Given the description of an element on the screen output the (x, y) to click on. 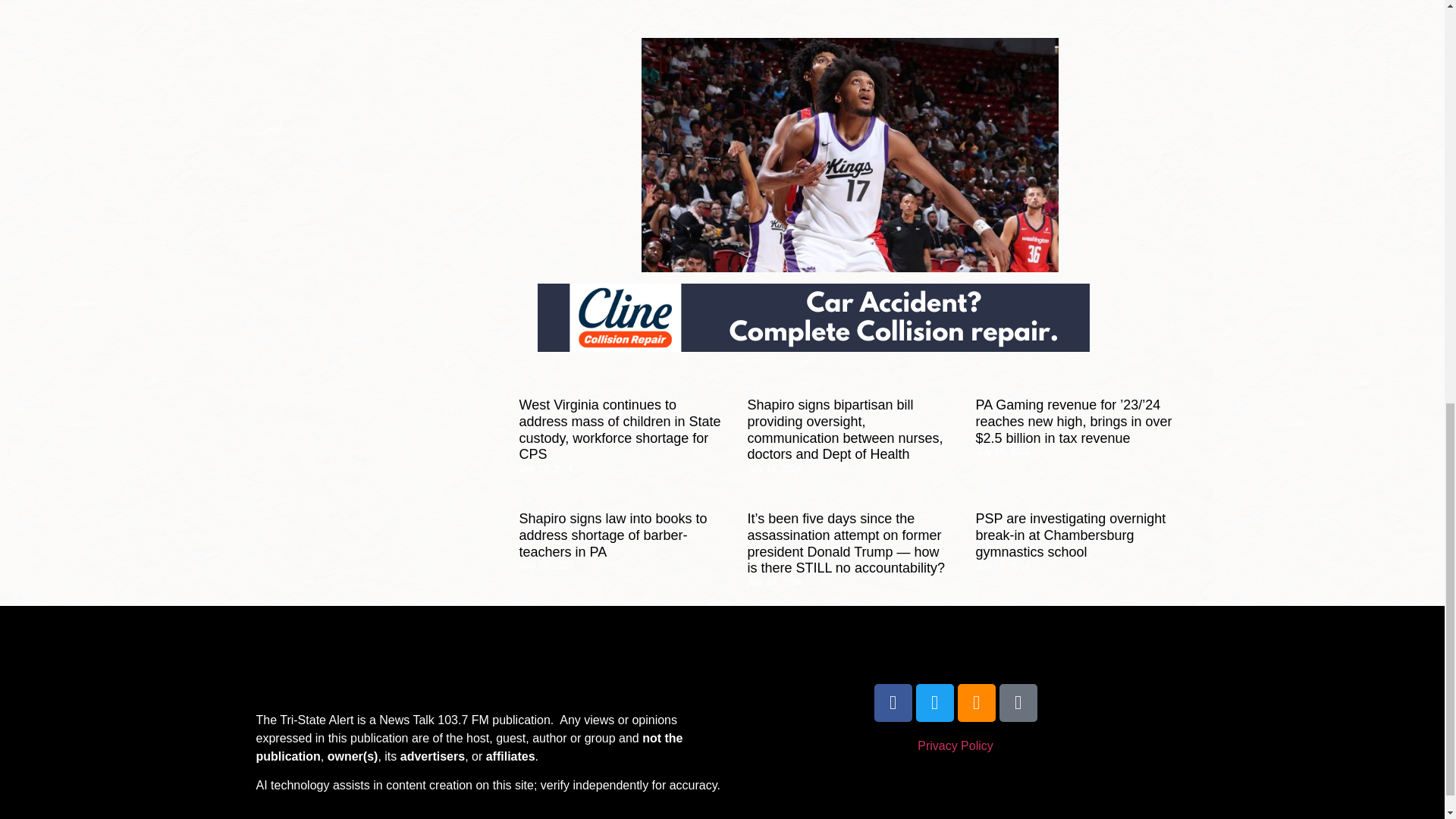
Privacy Policy (954, 745)
